Given the description of an element on the screen output the (x, y) to click on. 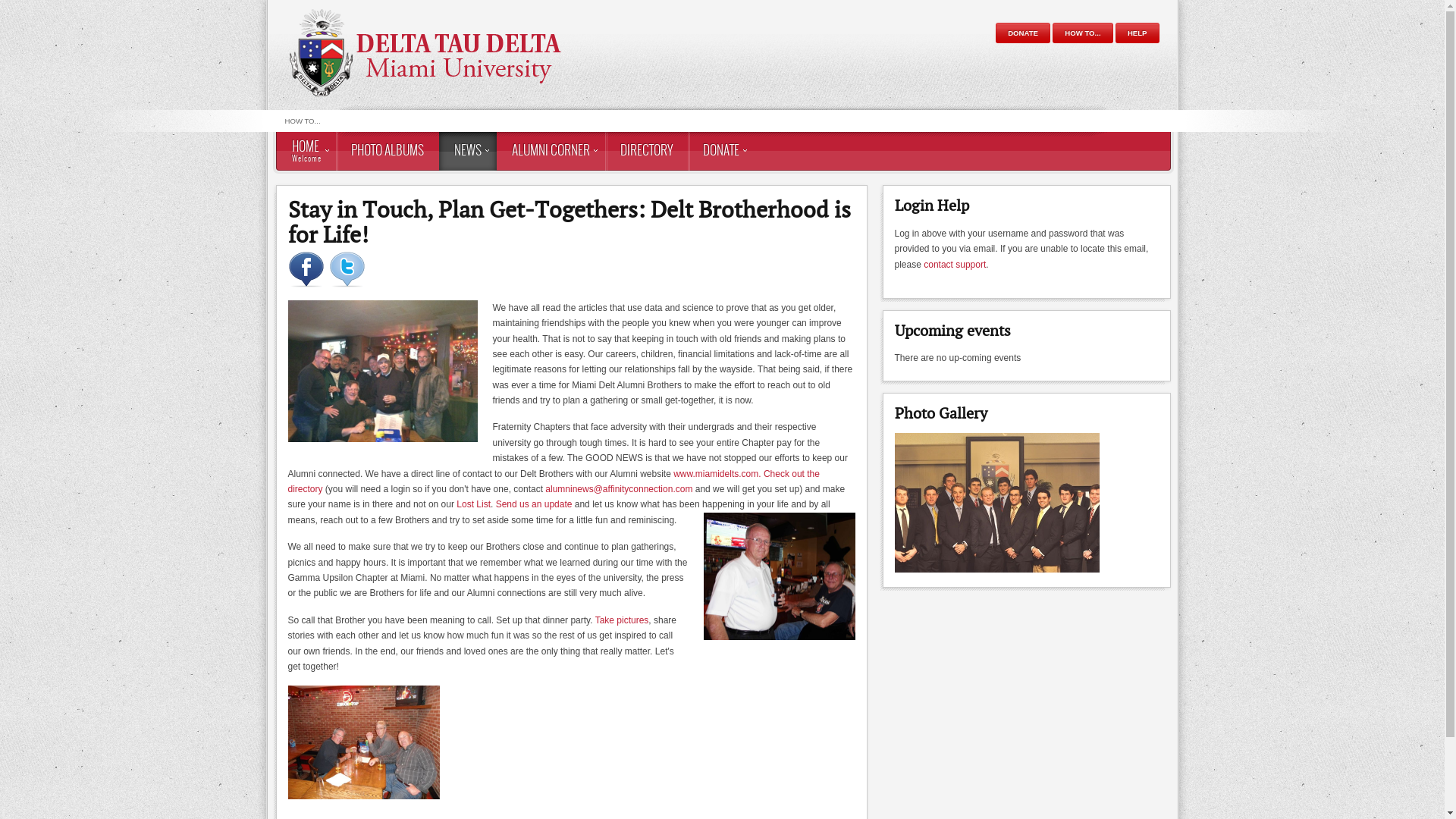
Send us an update Element type: text (533, 503)
Take pictures Element type: text (622, 620)
HOME
Welcome Element type: text (305, 150)
ALUMNI CORNER Element type: text (549, 150)
NEWS Element type: text (466, 150)
HOW TO... Element type: text (1082, 32)
DONATE Element type: text (1022, 32)
alumninews@affinityconnection.com Element type: text (618, 488)
HOW TO... Element type: text (302, 120)
DIRECTORY Element type: text (646, 150)
PHOTO ALBUMS Element type: text (386, 150)
DONATE Element type: text (720, 150)
contact support Element type: text (954, 264)
www.miamidelts.com. Element type: text (716, 473)
Lost List Element type: text (473, 503)
Check out the directory Element type: text (553, 481)
HELP Element type: text (1137, 32)
